Given the description of an element on the screen output the (x, y) to click on. 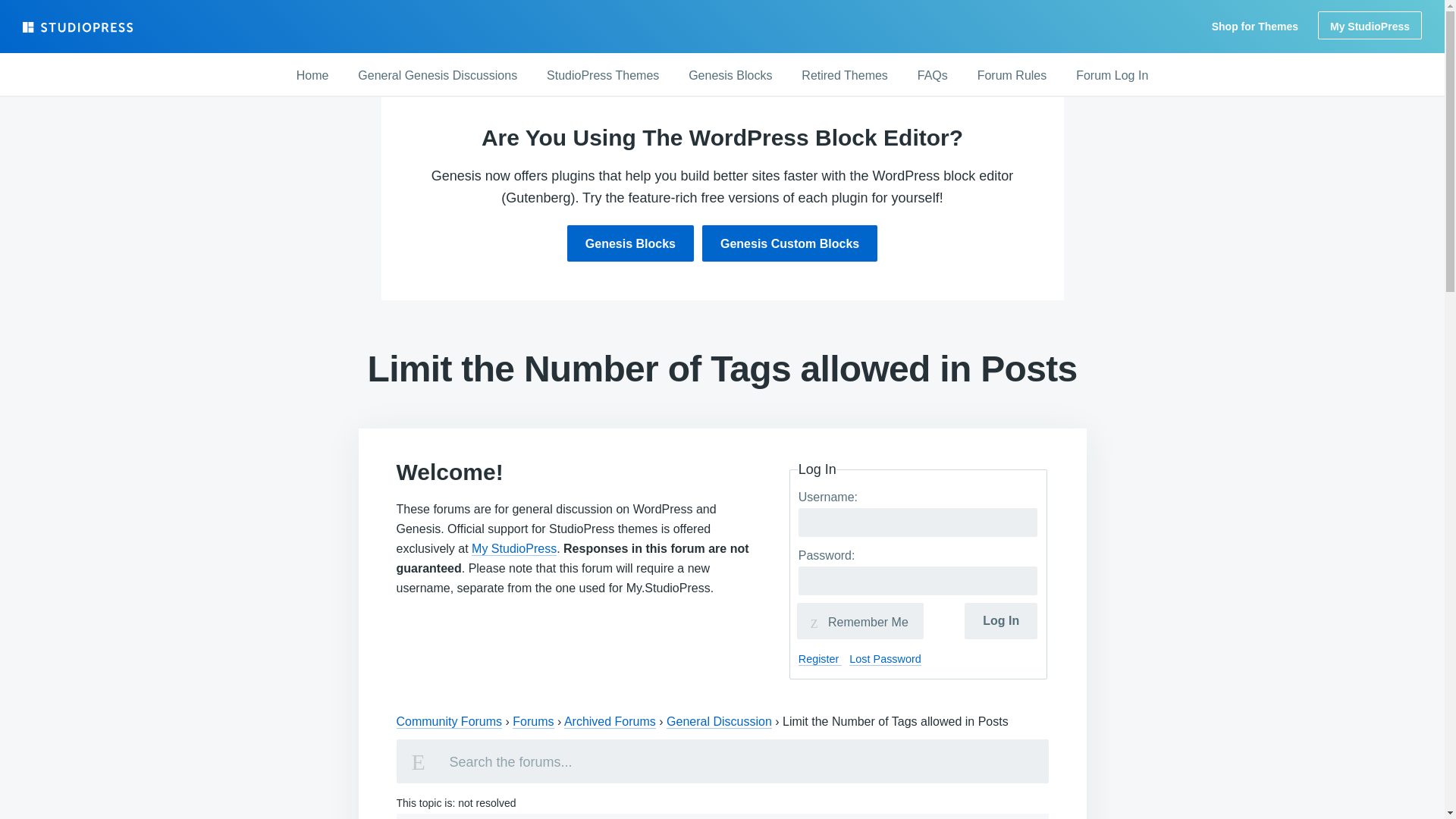
Genesis Blocks (729, 75)
Forum Log In (1112, 75)
Lost Password (884, 658)
Genesis Blocks (630, 242)
Lost Password (884, 658)
Shop for Themes (1254, 27)
StudioPress.com (79, 27)
Forum Rules (1011, 75)
My StudioPress (1369, 25)
Community Forums (449, 721)
My StudioPress (513, 549)
Archived Forums (610, 721)
Genesis Custom Blocks (789, 242)
General Genesis Discussions (437, 75)
Register (820, 658)
